Given the description of an element on the screen output the (x, y) to click on. 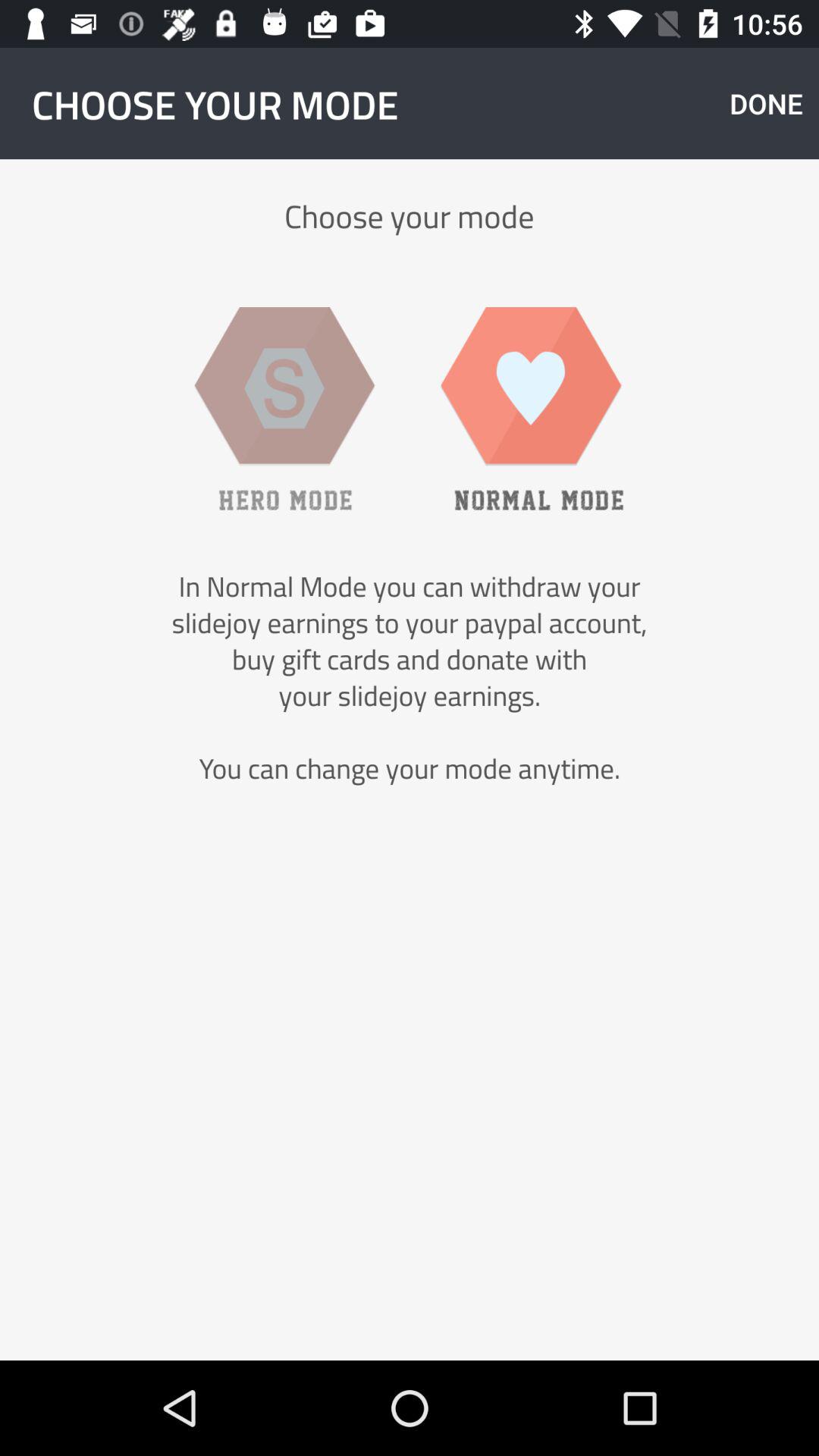
turn off icon above the in normal mode item (531, 408)
